Given the description of an element on the screen output the (x, y) to click on. 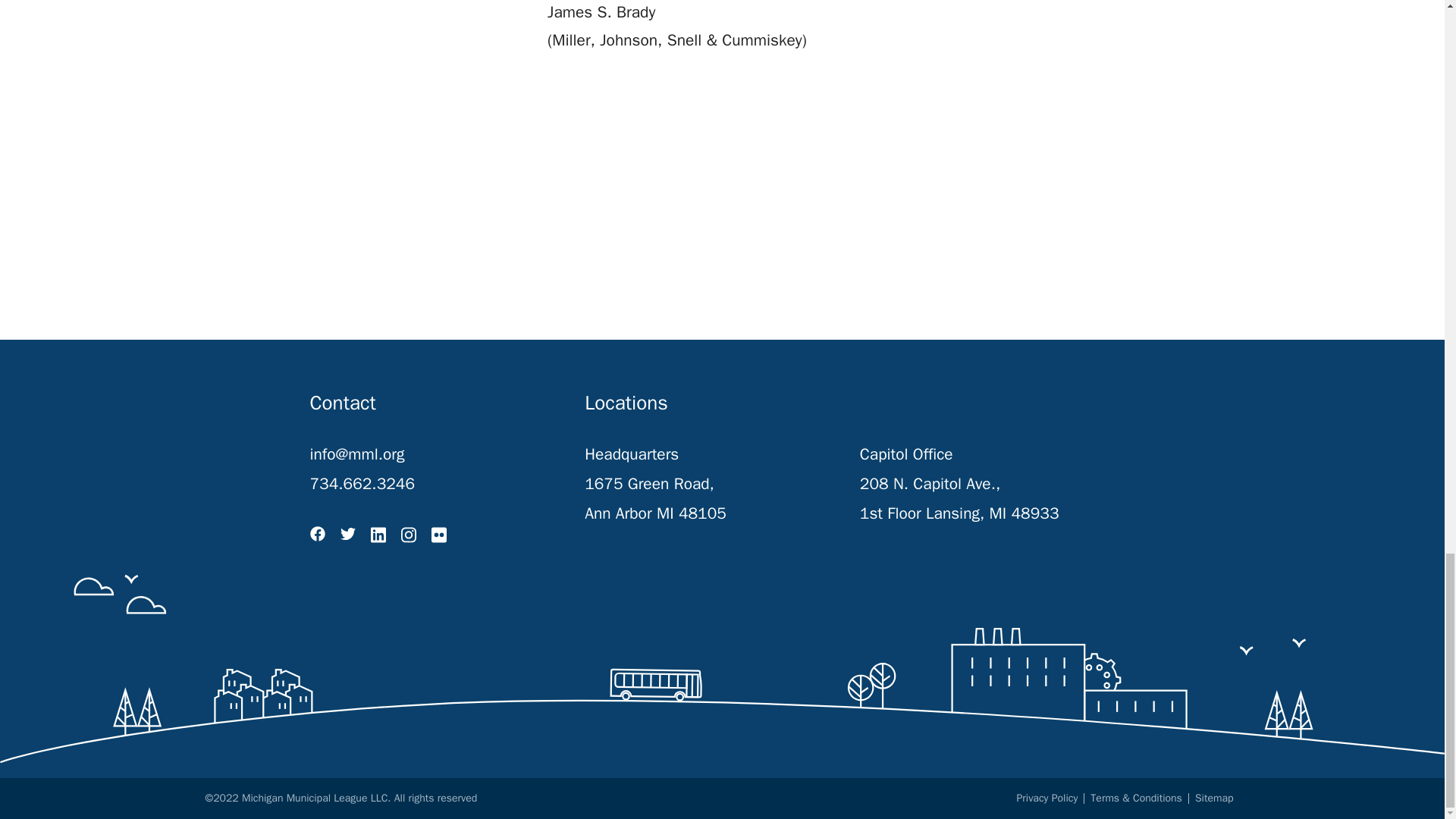
Sitemap (1214, 797)
734.662.3246 (361, 484)
Privacy Policy (1047, 797)
